Given the description of an element on the screen output the (x, y) to click on. 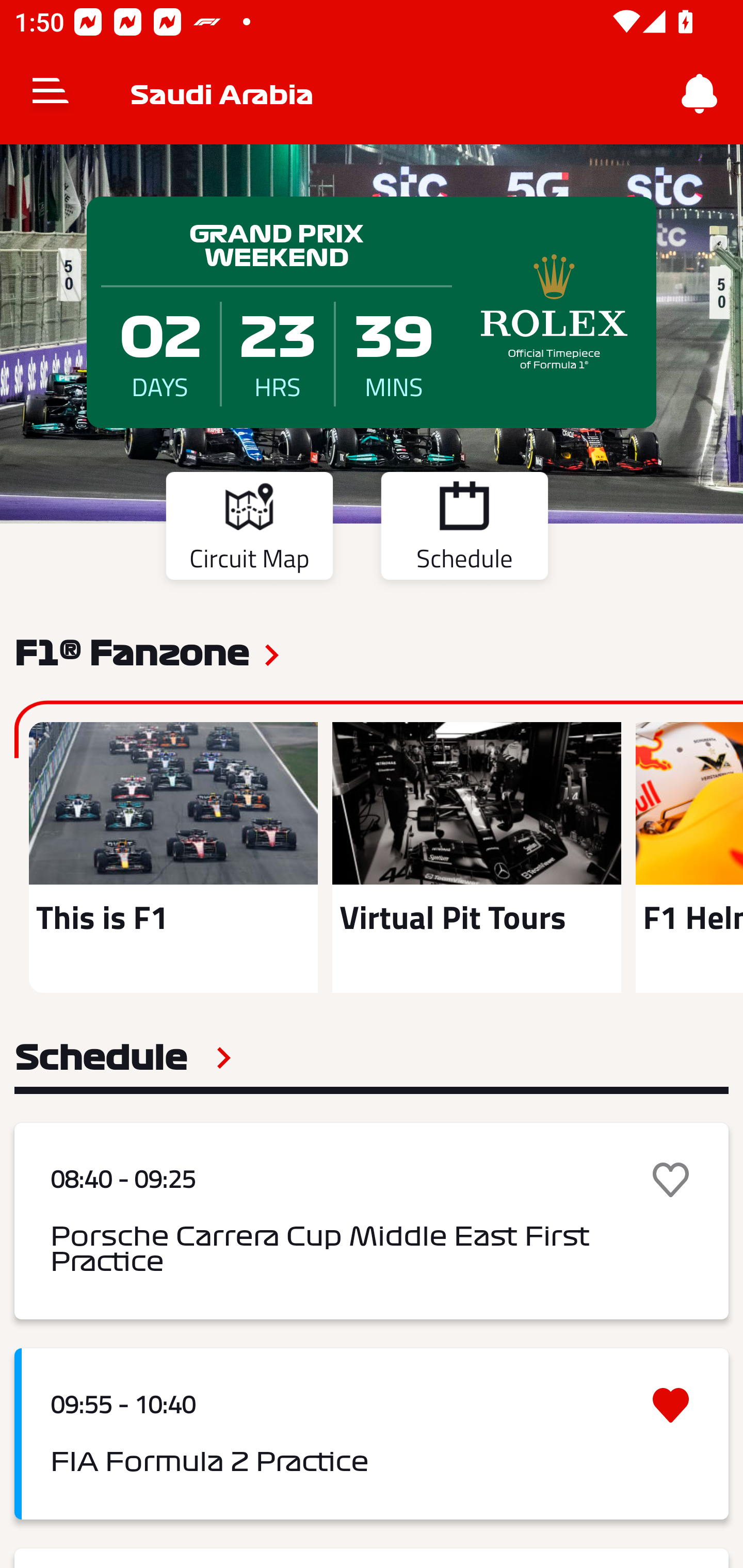
Navigate up (50, 93)
Notifications (699, 93)
Circuit Map (249, 528)
Schedule (464, 528)
F1® Fanzone (131, 651)
This is F1 (173, 857)
Virtual Pit Tours (476, 857)
Schedule (122, 1057)
09:55 - 10:40 FIA Formula 2 Practice (371, 1433)
